Given the description of an element on the screen output the (x, y) to click on. 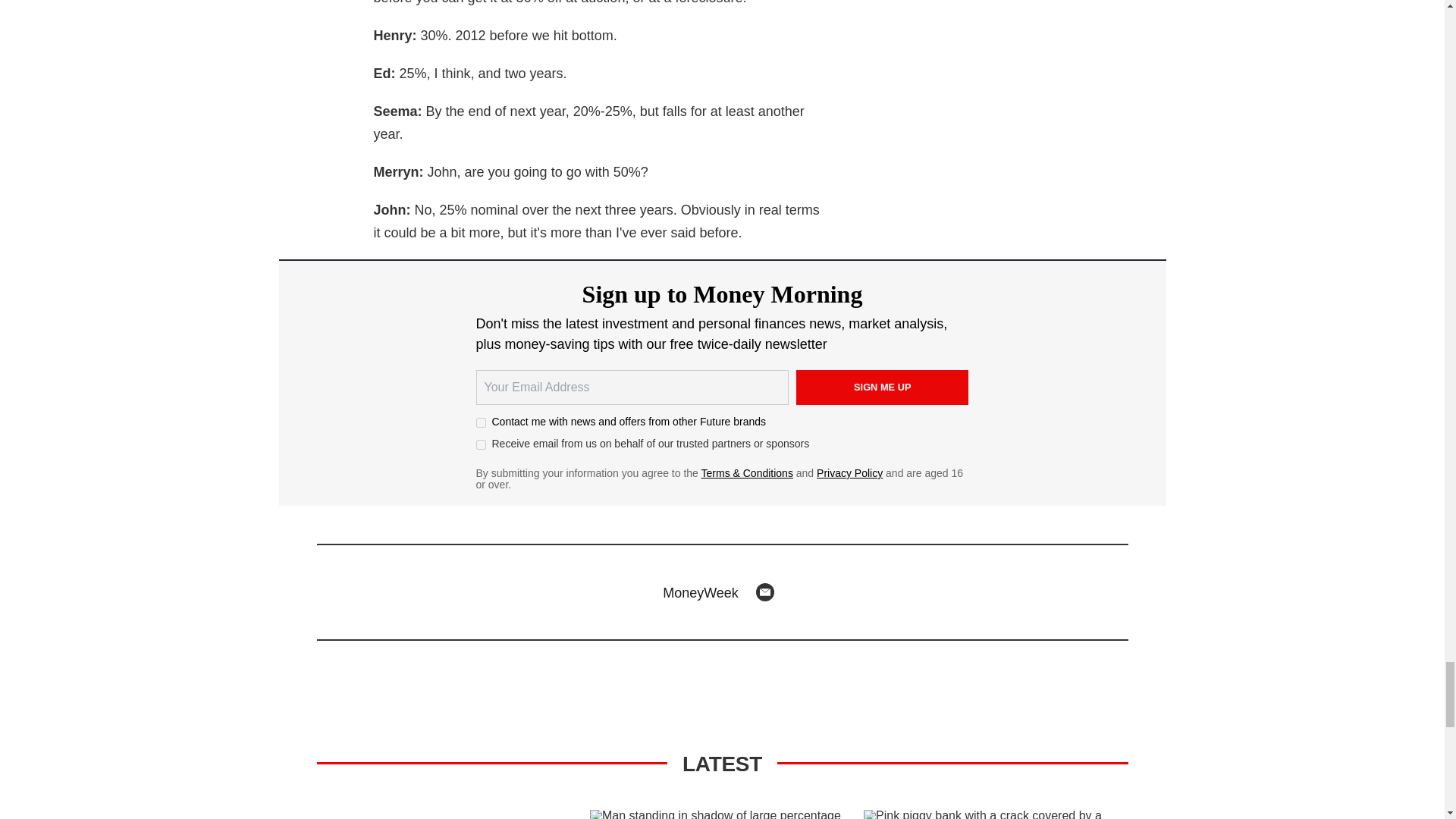
Sign me up (882, 387)
on (481, 444)
on (481, 422)
